Given the description of an element on the screen output the (x, y) to click on. 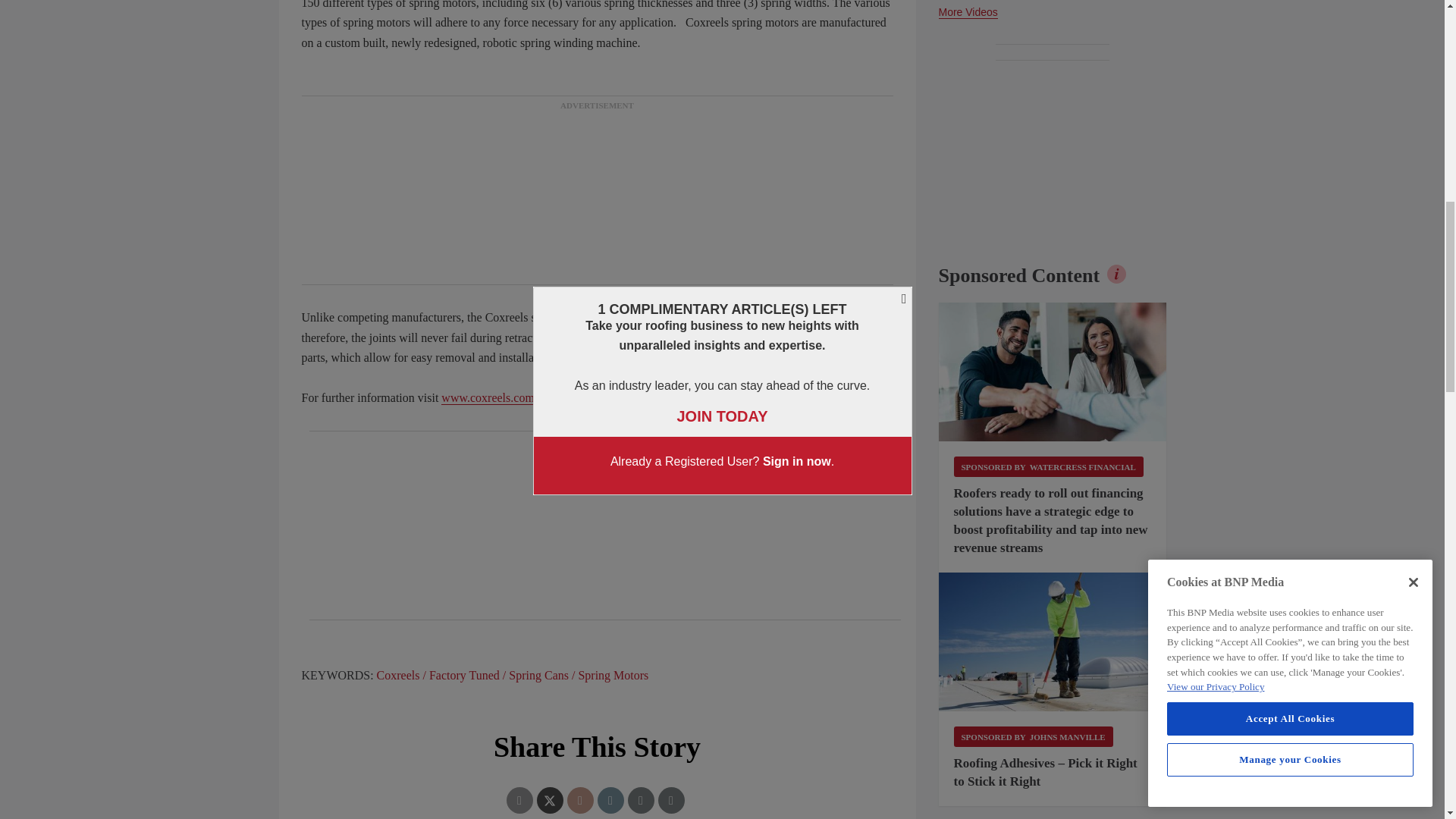
Sponsored by Johns Manville (1033, 736)
Sponsored by Watercress Financial (1047, 466)
